Given the description of an element on the screen output the (x, y) to click on. 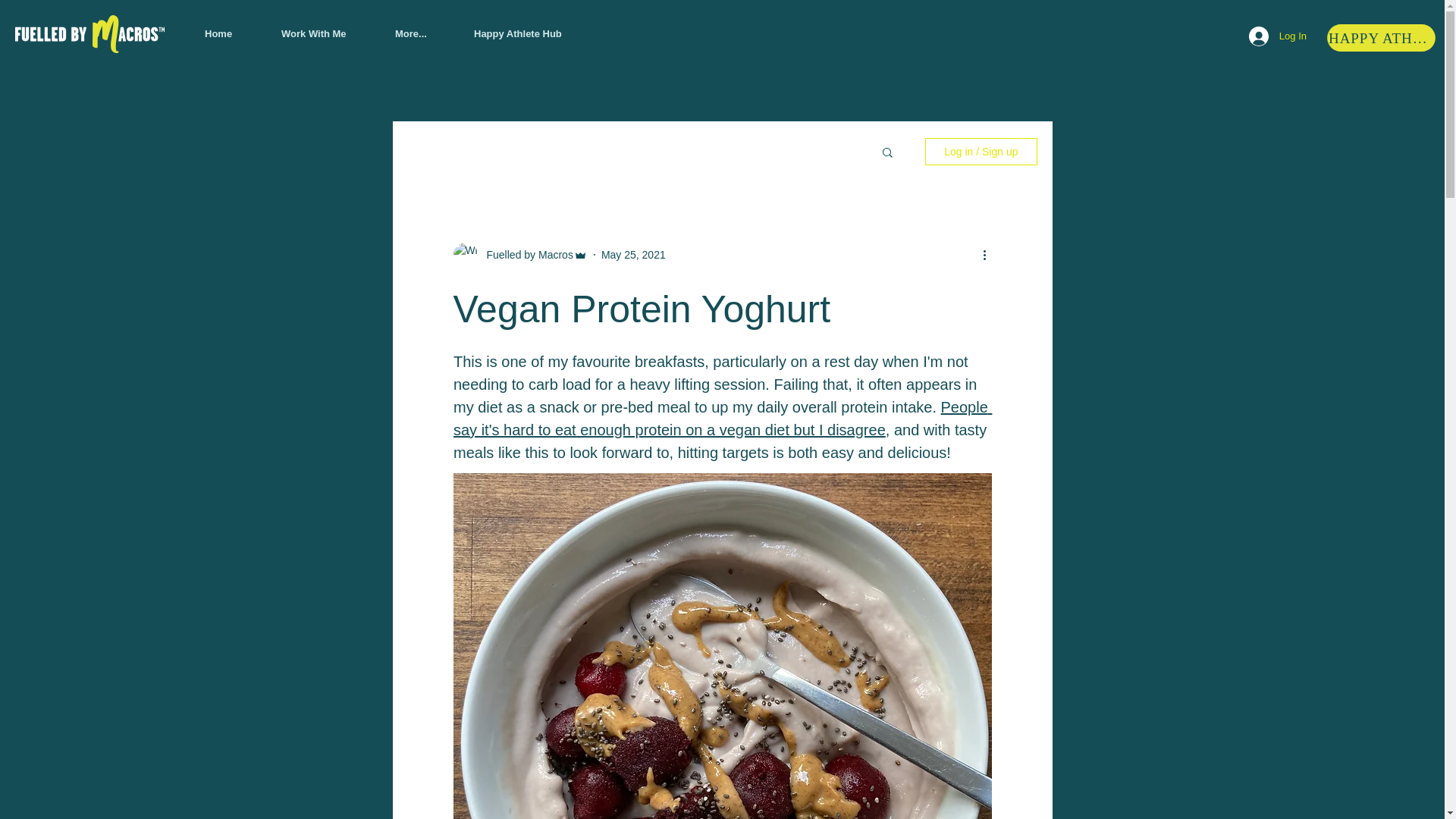
Log In (1278, 36)
Happy Athlete Hub (533, 34)
Home (231, 34)
Fuelled by Macros (520, 254)
Work With Me (326, 34)
May 25, 2021 (633, 254)
Fuelled by Macros (525, 254)
HAPPY ATHLETE (1382, 38)
